Given the description of an element on the screen output the (x, y) to click on. 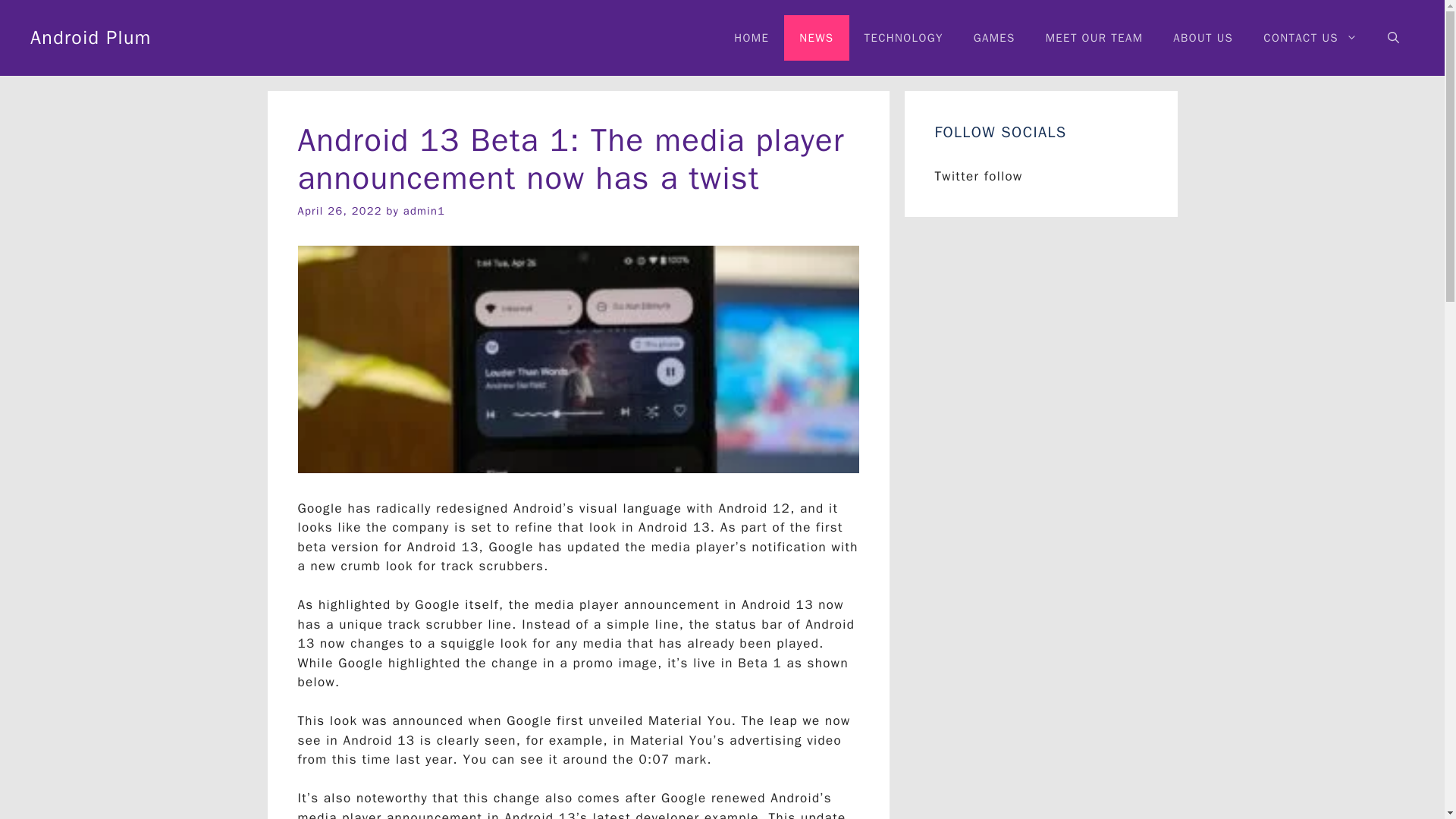
ABOUT US (1202, 37)
NEWS (816, 37)
MEET OUR TEAM (1094, 37)
CONTACT US (1310, 37)
admin1 (424, 210)
Android Plum (90, 37)
TECHNOLOGY (903, 37)
View all posts by admin1 (424, 210)
HOME (751, 37)
GAMES (994, 37)
